Given the description of an element on the screen output the (x, y) to click on. 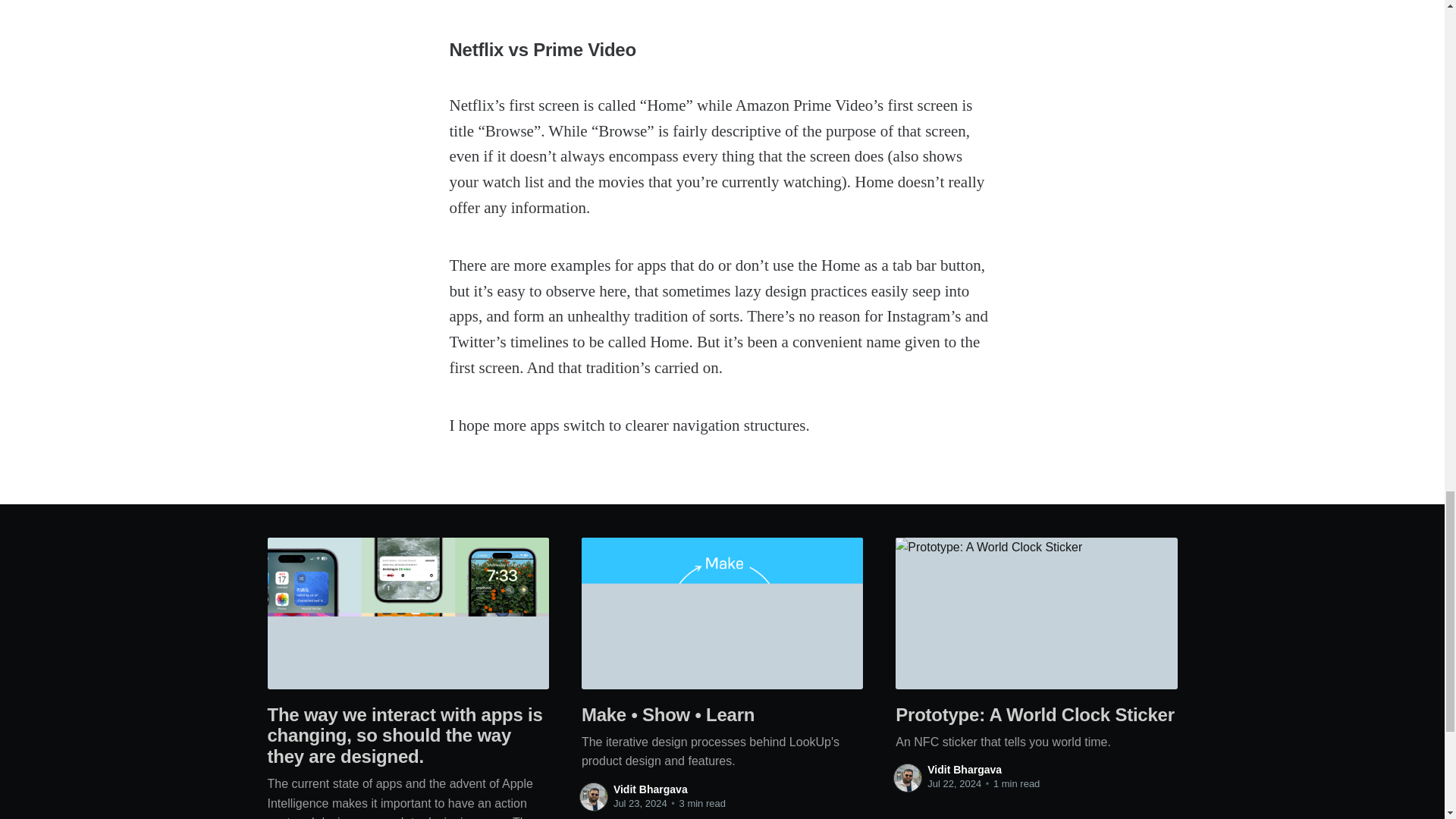
Vidit Bhargava (649, 788)
Vidit Bhargava (964, 769)
